Given the description of an element on the screen output the (x, y) to click on. 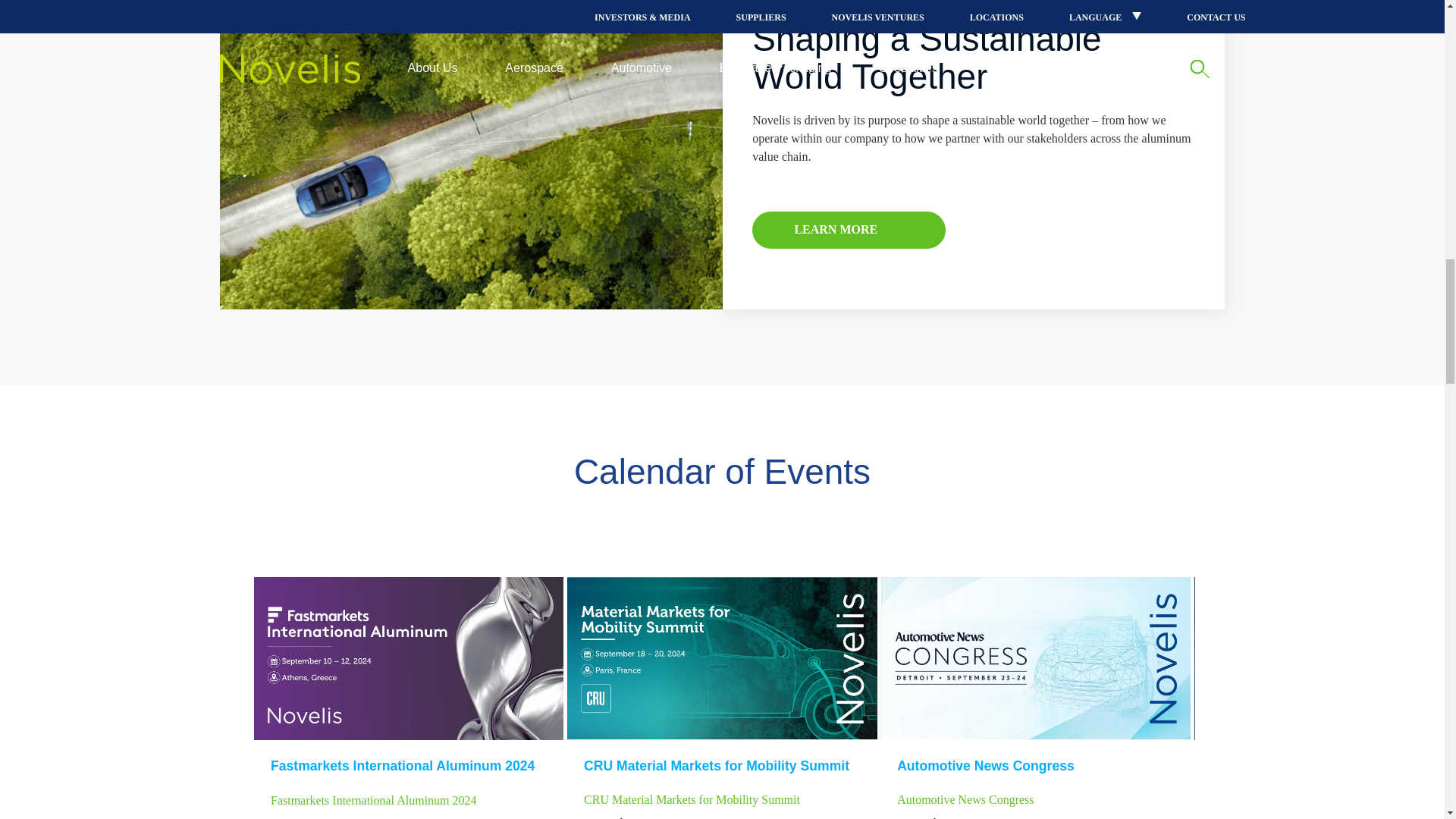
Automotive News Congress (1035, 658)
CRU Material Markets for Mobility Summit (721, 658)
Fastmarkets International Aluminum 2024 (408, 765)
Automotive News Congress (1034, 765)
Fastmarkets International Aluminum 2024 (408, 658)
CRU Material Markets for Mobility Summit (721, 765)
